Given the description of an element on the screen output the (x, y) to click on. 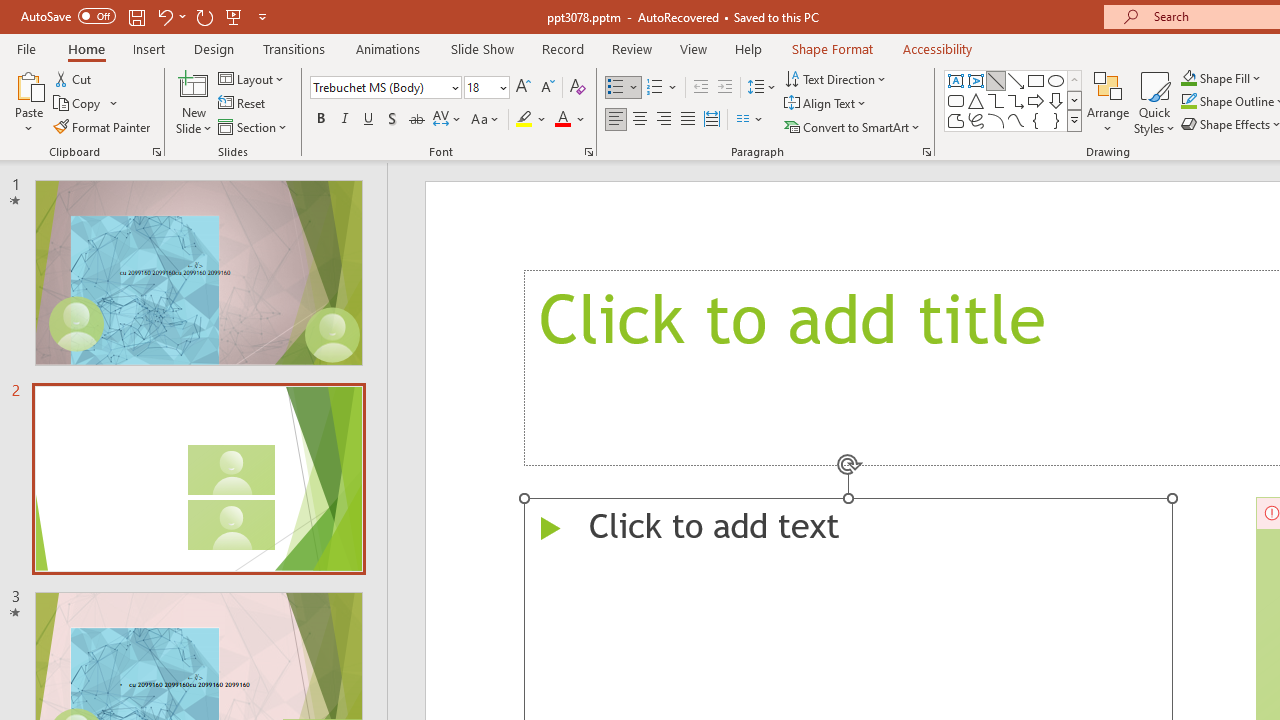
Shape Fill Dark Green, Accent 2 (1188, 78)
Format Painter (103, 126)
AutomationID: ShapesInsertGallery (1014, 100)
Align Text (826, 103)
Italic (344, 119)
Increase Font Size (522, 87)
Rectangle (1035, 80)
Section (254, 126)
